Given the description of an element on the screen output the (x, y) to click on. 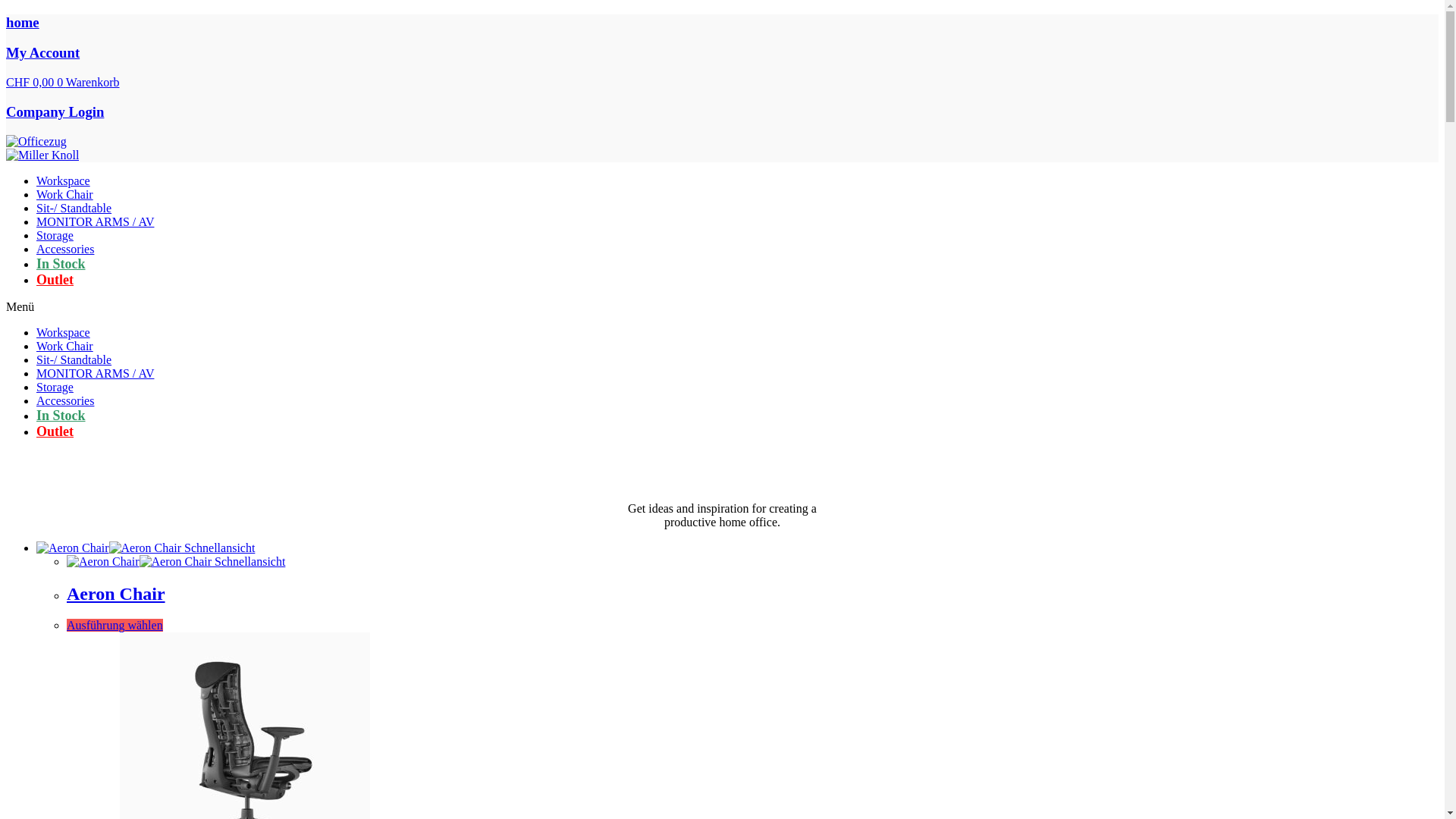
home Element type: text (22, 22)
Storage Element type: text (54, 235)
Outlet Element type: text (54, 431)
Aeron Chair Element type: text (115, 593)
MK_AssociateDealer_Standard_White_RGB Element type: hover (42, 155)
Logo-die-Servicecopmany_Neutral_weiss Element type: hover (36, 141)
Zum Inhalt springen Element type: text (5, 13)
Schnellansicht Element type: text (248, 561)
Accessories Element type: text (65, 400)
In Stock Element type: text (60, 263)
Sit-/ Standtable Element type: text (73, 207)
MONITOR ARMS / AV Element type: text (94, 221)
In Stock Element type: text (60, 415)
Workspace Element type: text (63, 332)
Company Login Element type: text (54, 111)
Schnellansicht Element type: text (217, 547)
Work Chair Element type: text (64, 345)
Work Chair Element type: text (64, 194)
CHF 0,00 0 Warenkorb Element type: text (62, 81)
Workspace Element type: text (63, 180)
Sit-/ Standtable Element type: text (73, 359)
Outlet Element type: text (54, 279)
Accessories Element type: text (65, 248)
My Account Element type: text (42, 52)
MONITOR ARMS / AV Element type: text (94, 373)
Storage Element type: text (54, 386)
